Given the description of an element on the screen output the (x, y) to click on. 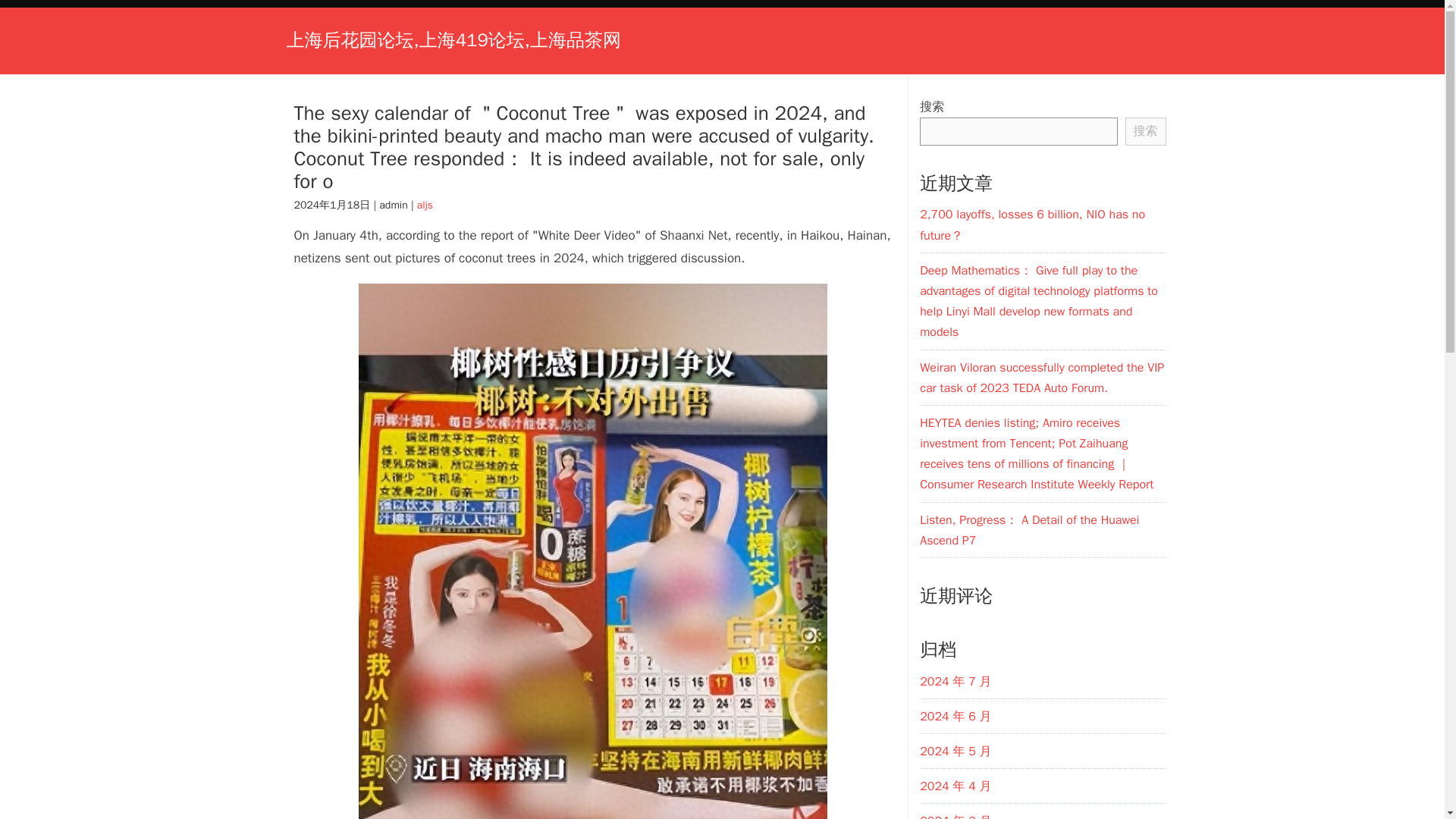
aljs (424, 205)
